Given the description of an element on the screen output the (x, y) to click on. 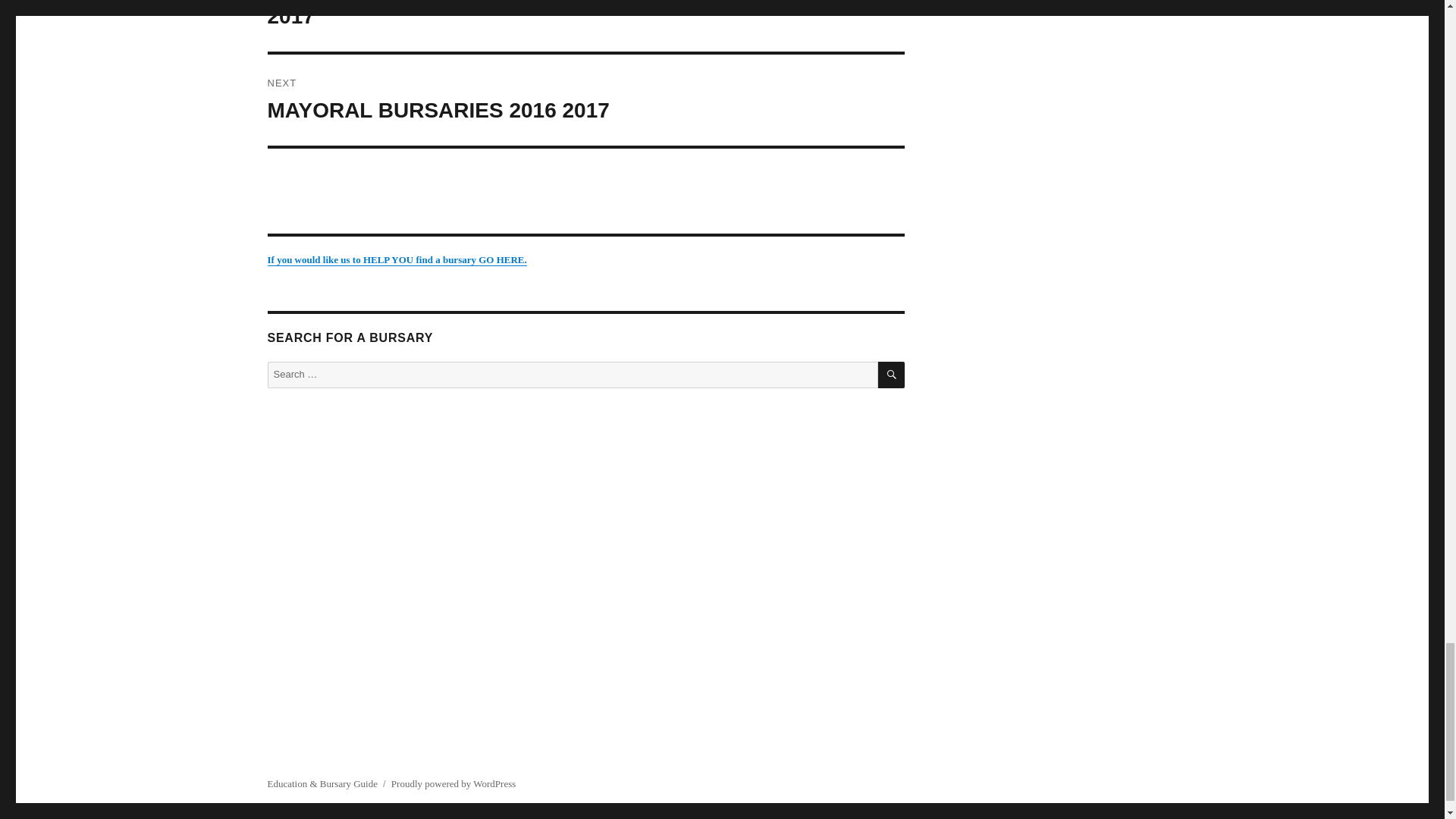
SEARCH (890, 374)
If you would like us to HELP YOU find a bursary GO HERE. (395, 259)
Proudly powered by WordPress (453, 783)
